Given the description of an element on the screen output the (x, y) to click on. 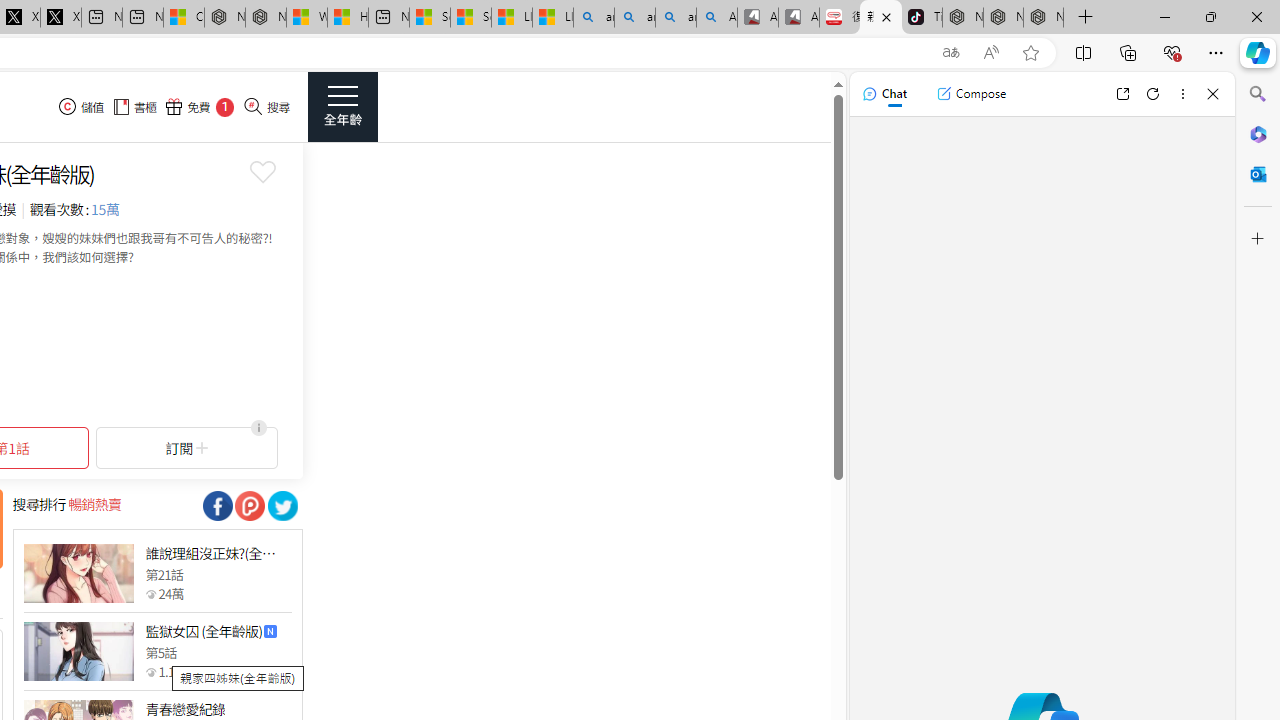
Class: socialShare (282, 506)
Nordace Siena Pro 15 Backpack (1003, 17)
X (60, 17)
Customize (1258, 239)
TikTok (922, 17)
Class: side_menu_btn actionRightMenuBtn (342, 106)
Open link in new tab (1122, 93)
